Given the description of an element on the screen output the (x, y) to click on. 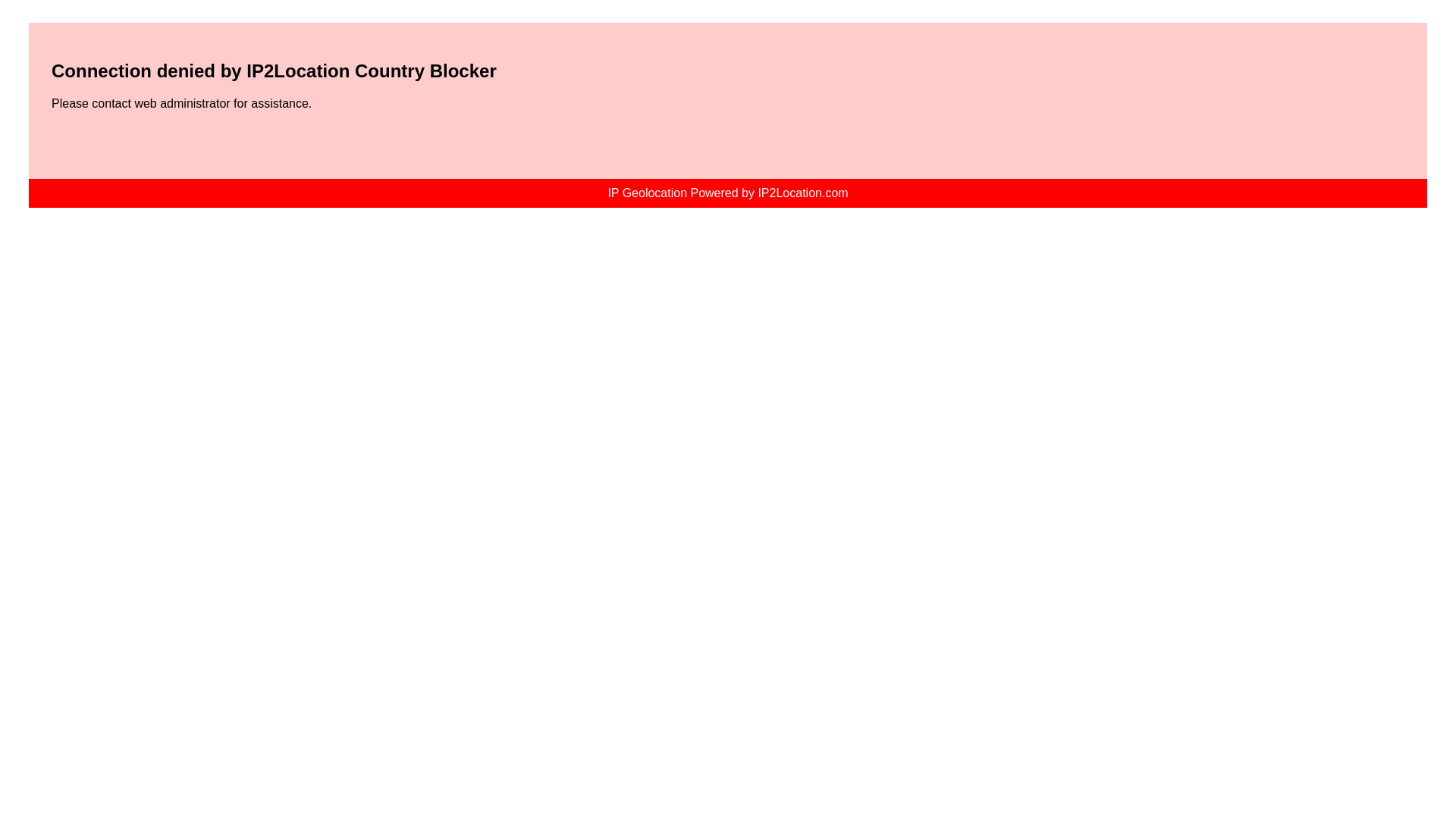
IP Geolocation Powered by IP2Location.com Element type: text (727, 192)
